Given the description of an element on the screen output the (x, y) to click on. 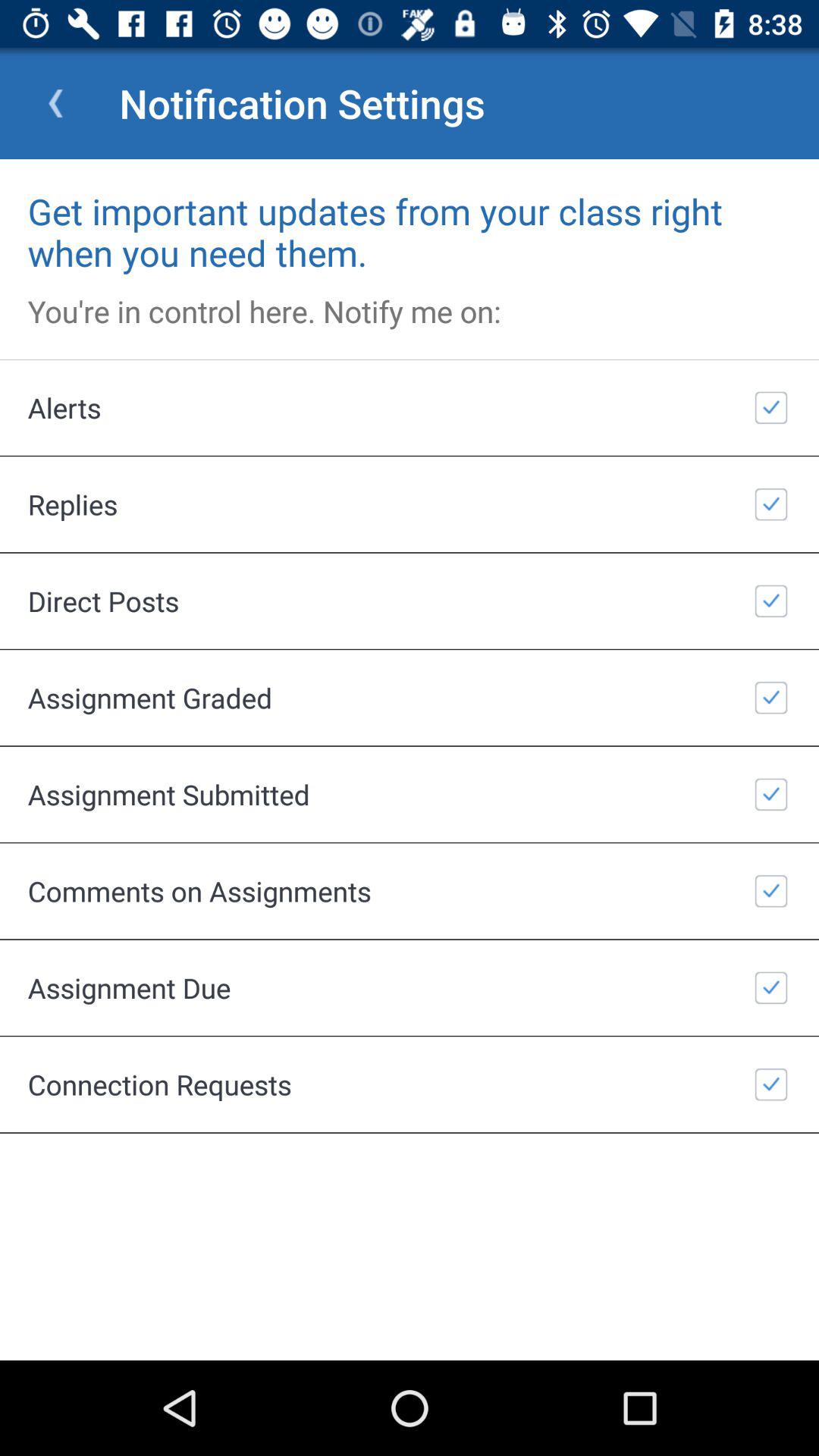
turn on app to the left of the notification settings (55, 103)
